Given the description of an element on the screen output the (x, y) to click on. 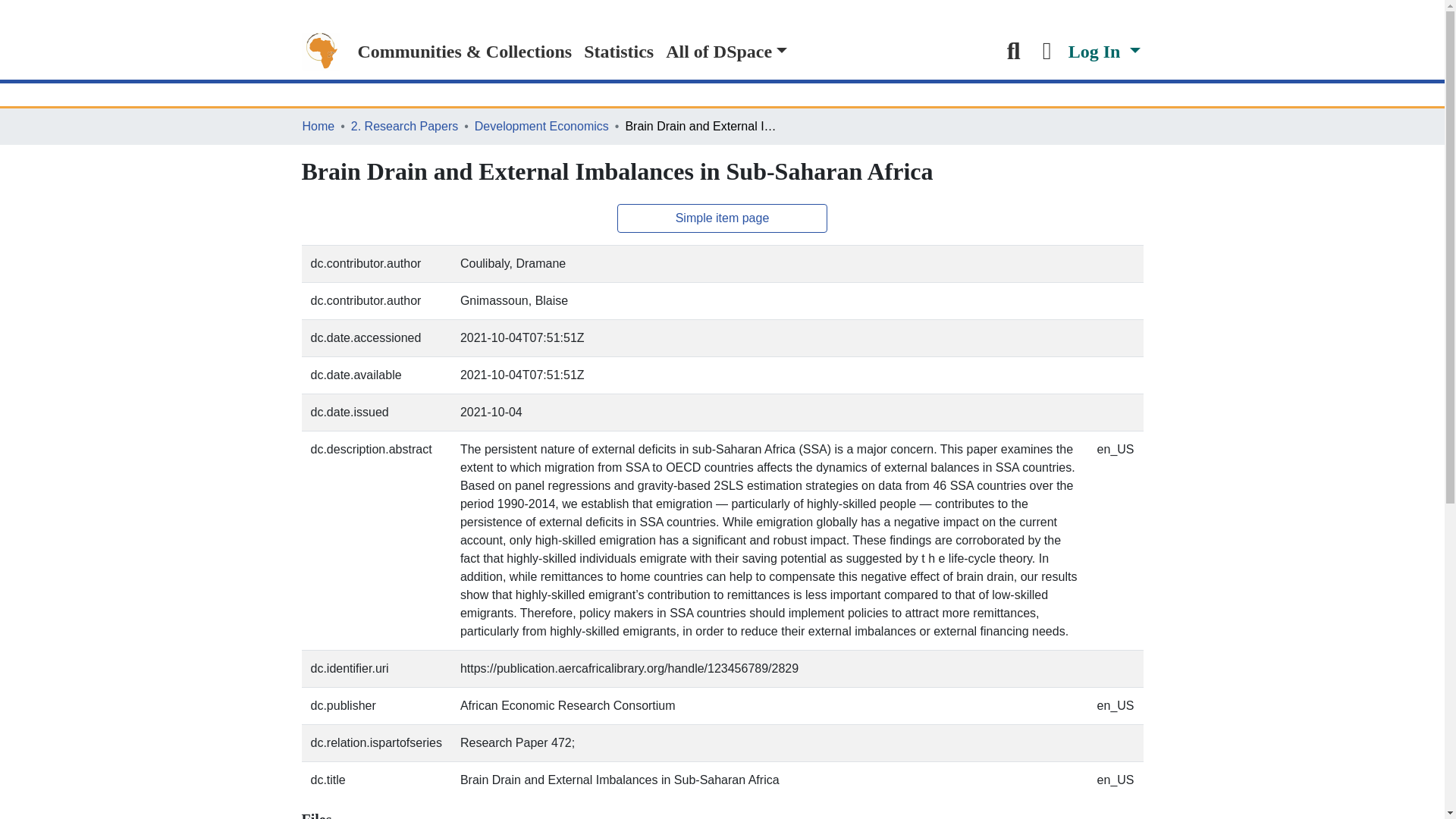
Search (1013, 51)
2. Research Papers (404, 126)
Simple item page (722, 217)
Log In (1103, 51)
Statistics (618, 51)
Language switch (1047, 51)
Statistics (618, 51)
All of DSpace (726, 51)
Development Economics (541, 126)
Home (317, 126)
